Given the description of an element on the screen output the (x, y) to click on. 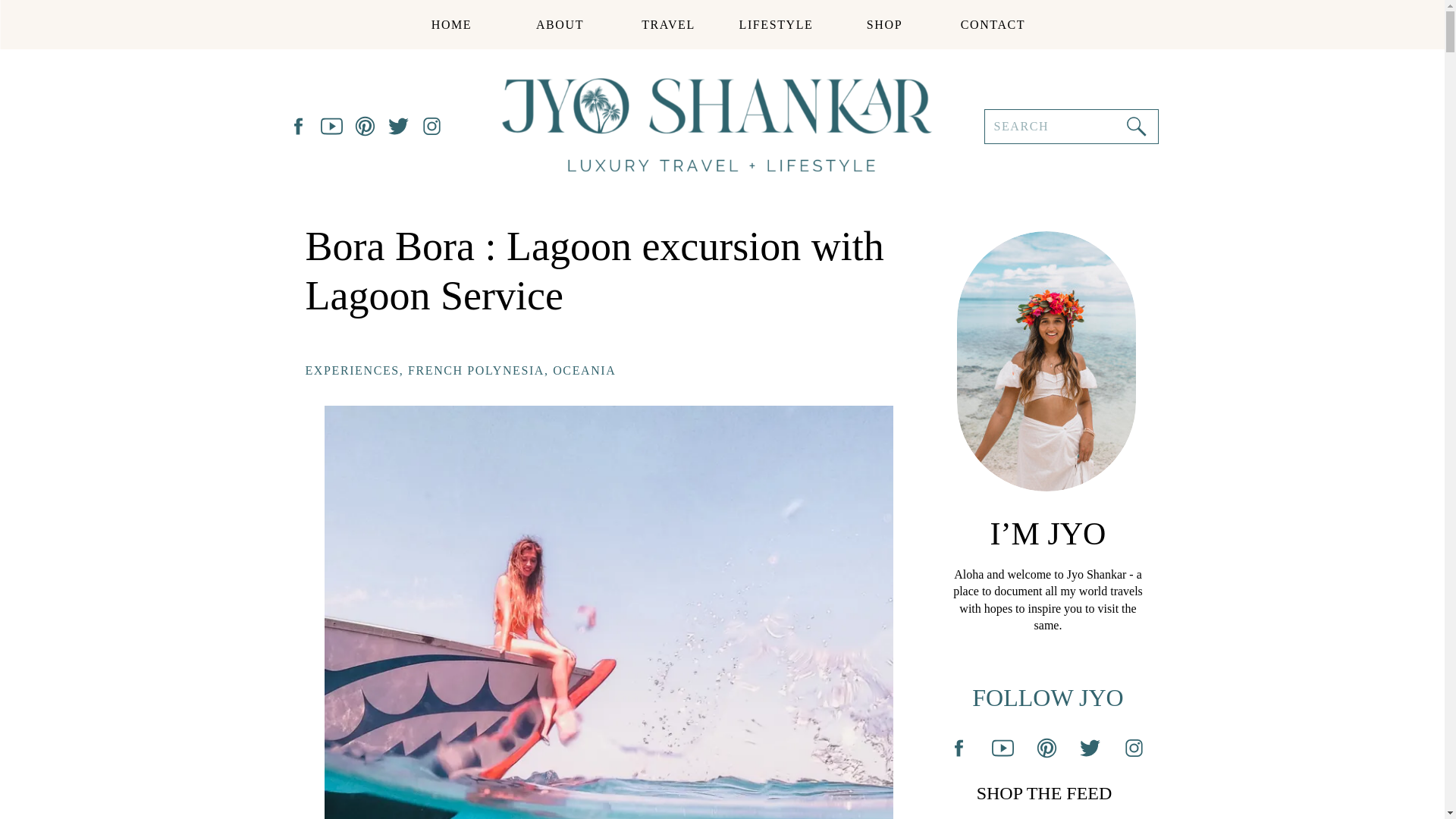
TRAVEL (668, 24)
SHOP (885, 24)
HOME (451, 24)
CONTACT (992, 24)
ABOUT (560, 24)
LIFESTYLE (776, 24)
